Given the description of an element on the screen output the (x, y) to click on. 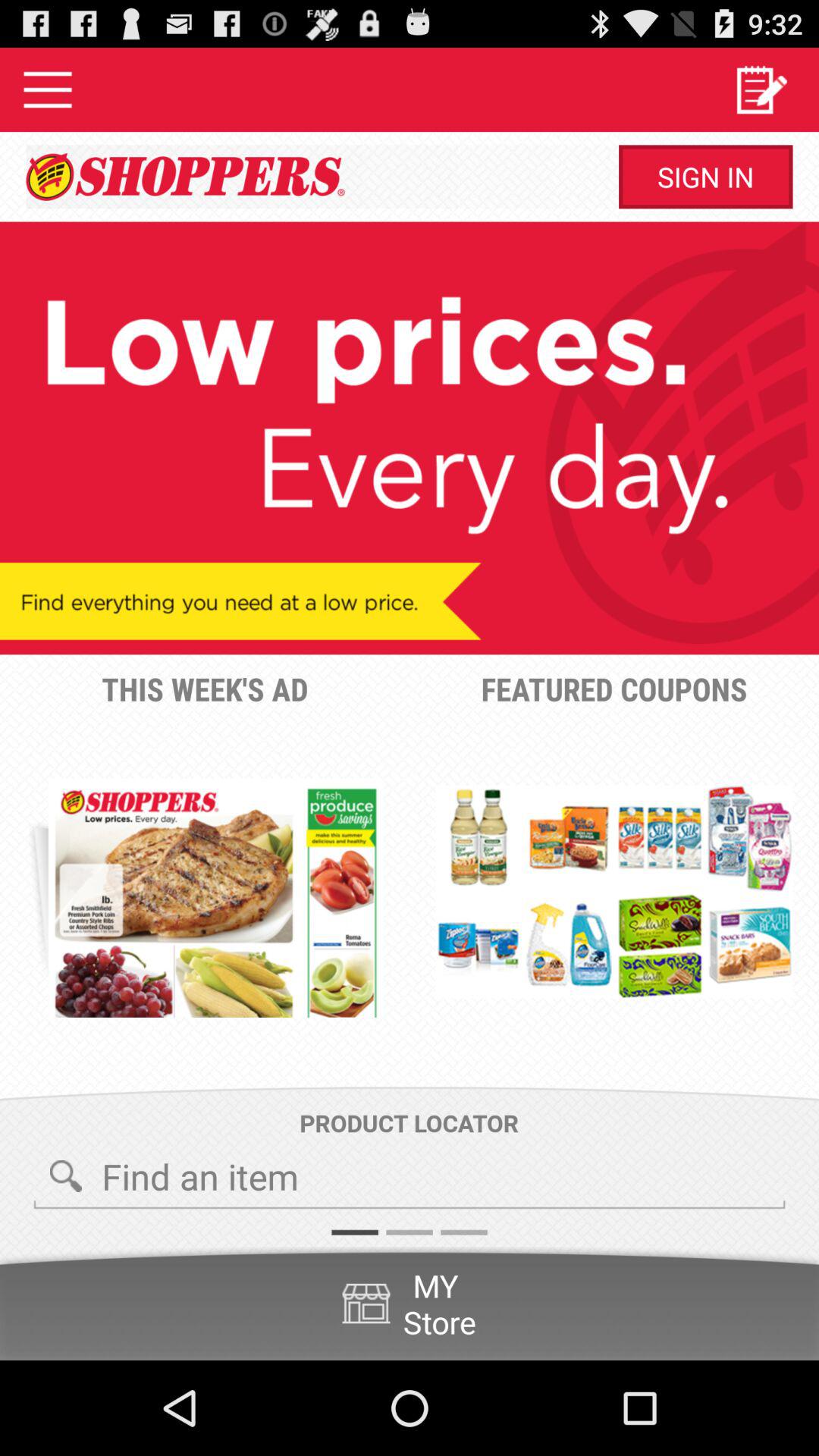
flip until sign in item (705, 176)
